Given the description of an element on the screen output the (x, y) to click on. 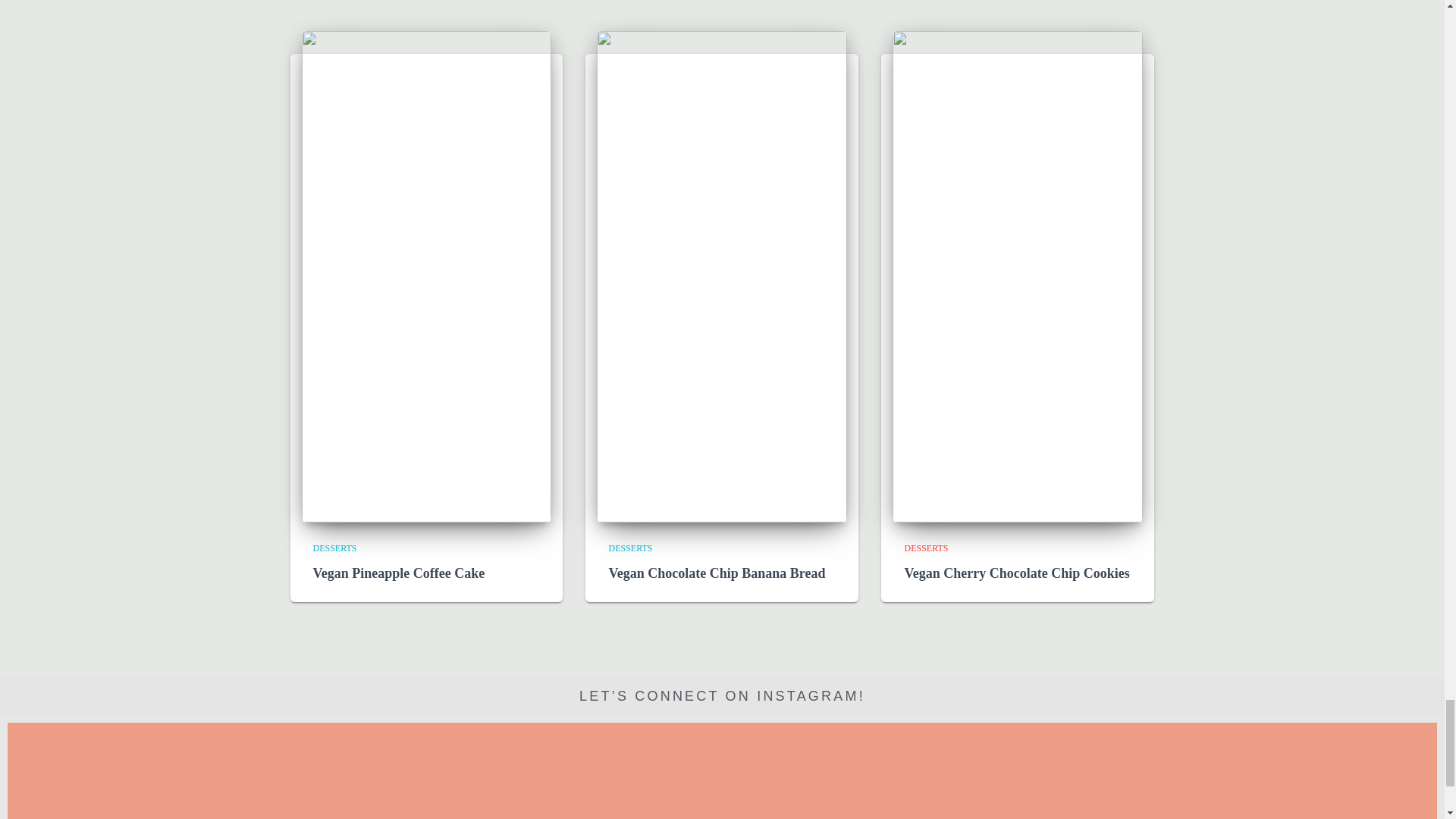
Vegan Cherry Chocolate Chip Cookies (1017, 276)
View all posts in Desserts (925, 547)
Vegan Cherry Chocolate Chip Cookies (1016, 572)
View all posts in Desserts (334, 547)
Vegan Chocolate Chip Banana Bread (716, 572)
Vegan Pineapple Coffee Cake (426, 276)
Vegan Pineapple Coffee Cake (398, 572)
View all posts in Desserts (630, 547)
Vegan Chocolate Chip Banana Bread (721, 276)
